Given the description of an element on the screen output the (x, y) to click on. 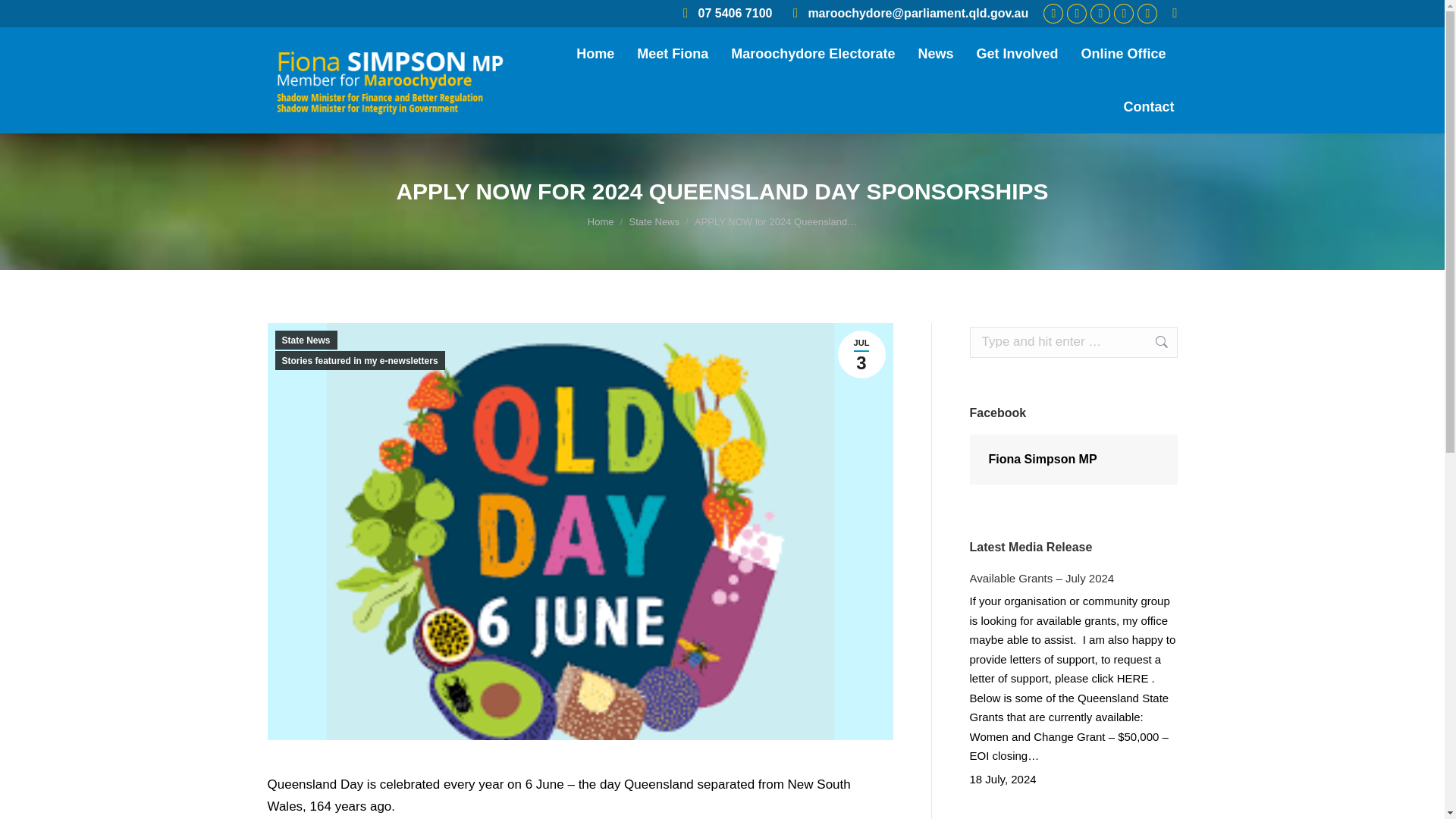
Facebook page opens in new window (1052, 13)
Linkedin page opens in new window (1099, 13)
Meet Fiona (672, 53)
Go! (25, 17)
07 5406 7100 (725, 13)
Go! (1153, 341)
Go! (1153, 341)
Linkedin page opens in new window (1099, 13)
X page opens in new window (1123, 13)
Instagram page opens in new window (1076, 13)
X page opens in new window (1123, 13)
YouTube page opens in new window (1147, 13)
Maroochydore Electorate (813, 53)
Get Involved (1016, 53)
Home (595, 53)
